Given the description of an element on the screen output the (x, y) to click on. 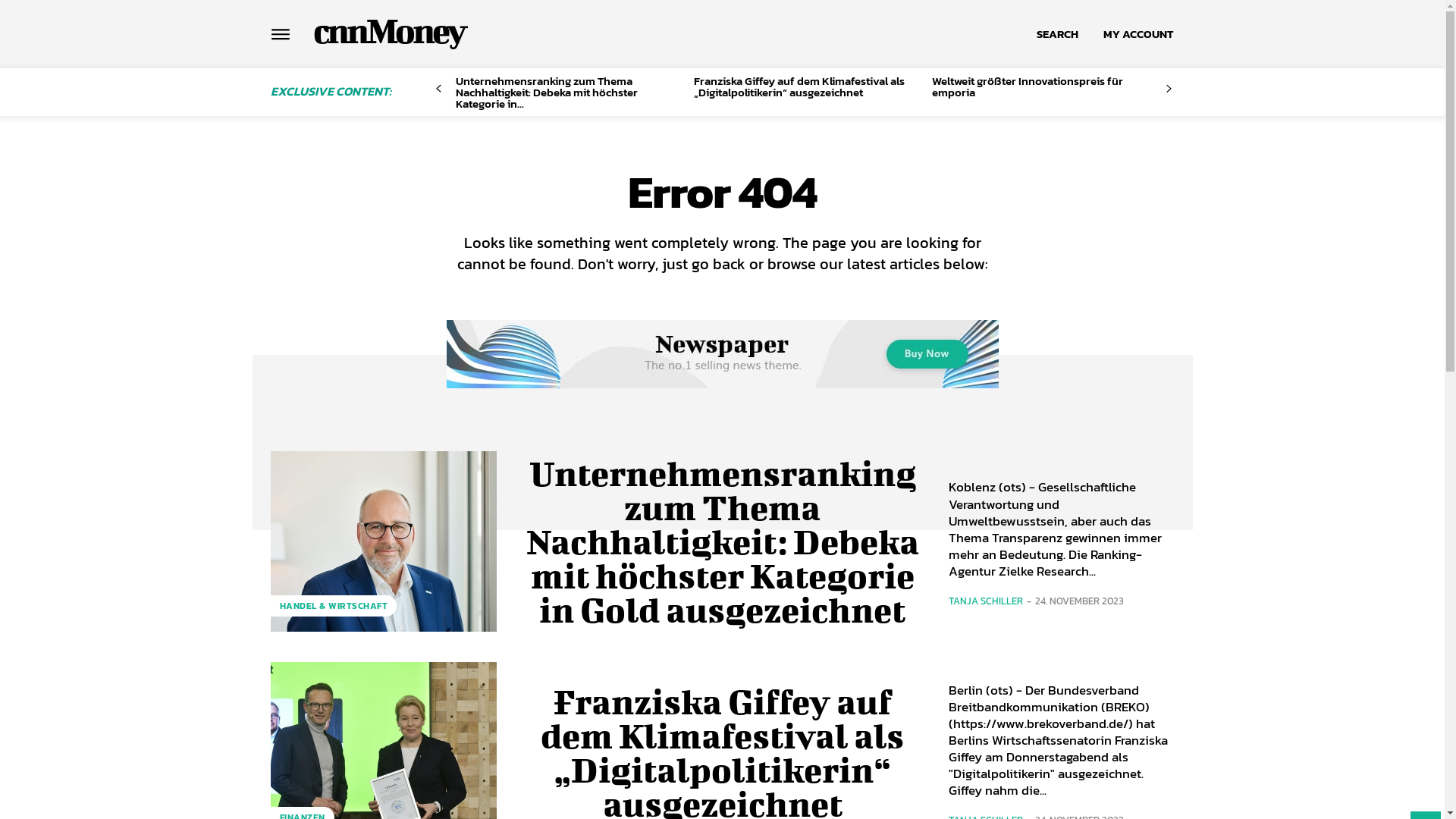
SEARCH Element type: text (1057, 34)
HANDEL & WIRTSCHAFT Element type: text (332, 605)
cnnMoney Element type: text (388, 30)
TANJA SCHILLER Element type: text (984, 600)
